Given the description of an element on the screen output the (x, y) to click on. 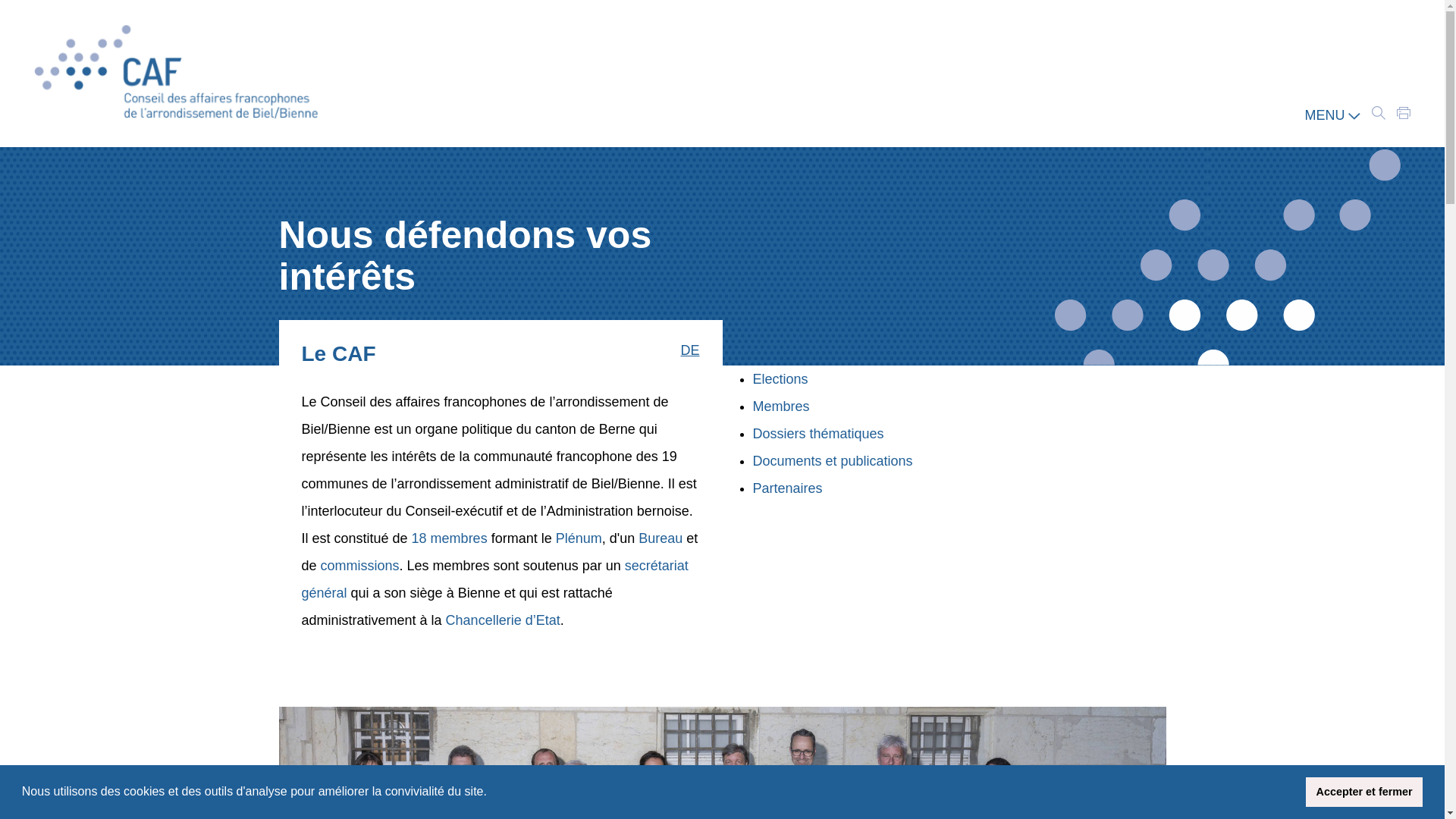
Bureau Element type: text (662, 538)
commissions Element type: text (359, 565)
Membres Element type: text (780, 406)
  Element type: text (1378, 112)
Documents et publications Element type: text (832, 460)
DE Element type: text (689, 350)
  Element type: text (1403, 112)
MENU  Element type: text (1332, 114)
Partenaires Element type: text (787, 487)
Accepter et fermer Element type: text (1363, 791)
18 membres Element type: text (449, 538)
Elections Element type: text (779, 378)
